Given the description of an element on the screen output the (x, y) to click on. 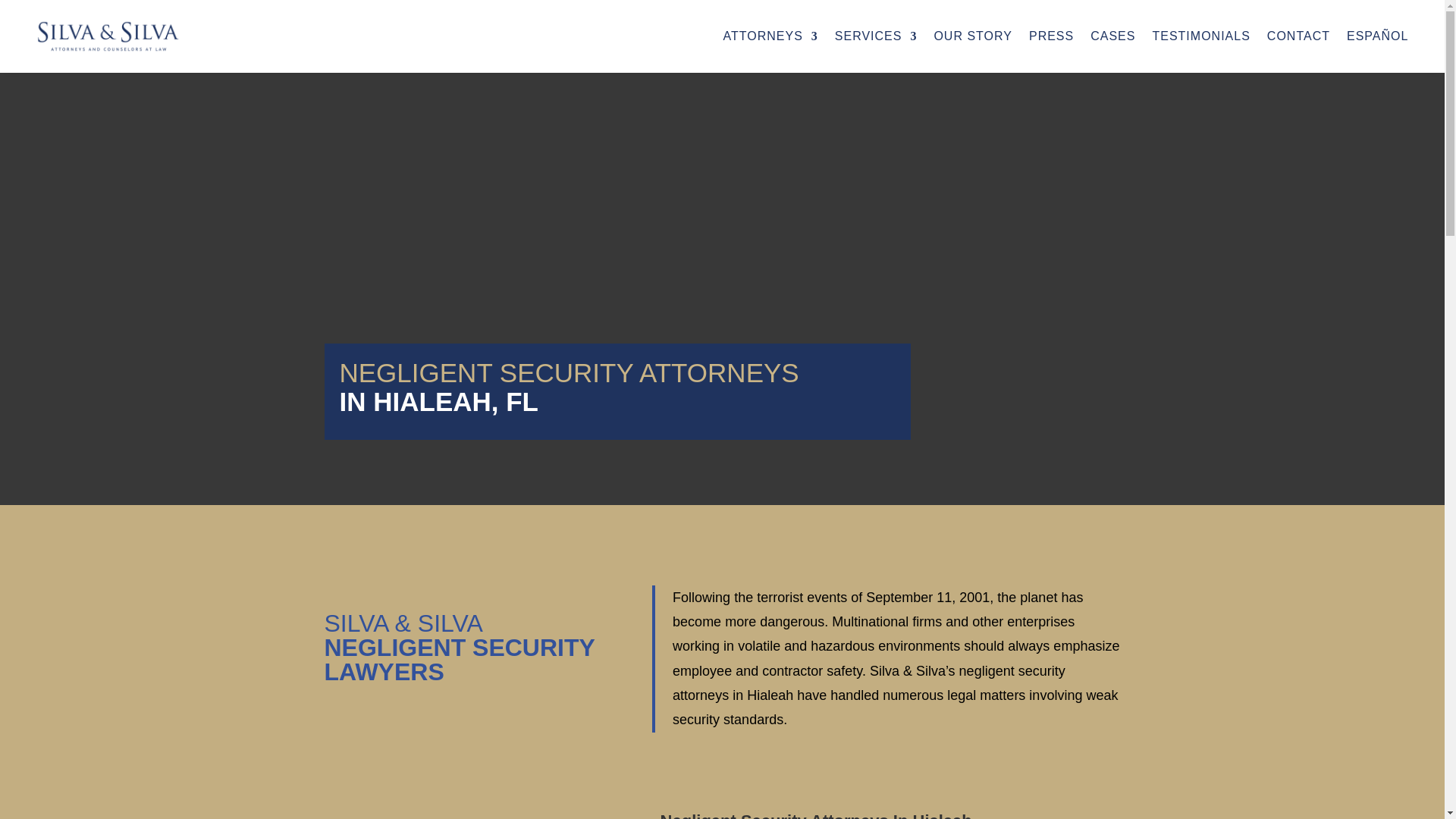
SERVICES (875, 36)
TESTIMONIALS (1200, 36)
ATTORNEYS (769, 36)
CONTACT (1298, 36)
OUR STORY (972, 36)
